Given the description of an element on the screen output the (x, y) to click on. 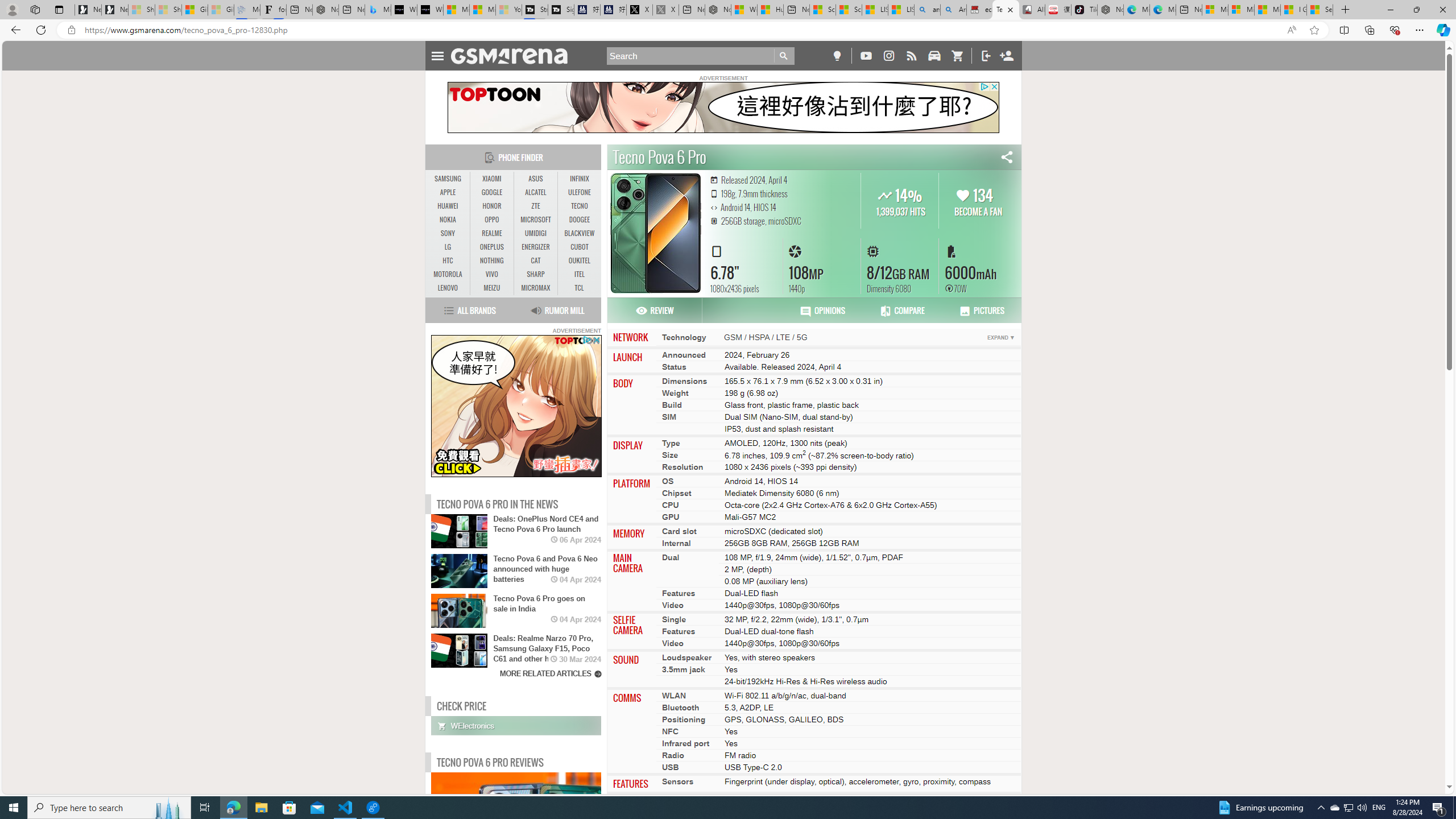
DOOGEE (579, 219)
Positioning (684, 719)
Nordace - Best Sellers (1110, 9)
REALME (491, 233)
XIAOMI (491, 178)
MICROSOFT (535, 219)
Newsletter Sign Up (114, 9)
GOOGLE (491, 192)
ASUS (535, 178)
Amazon Echo Dot PNG - Search Images (953, 9)
Address and search bar (680, 29)
ZTE (535, 206)
